Given the description of an element on the screen output the (x, y) to click on. 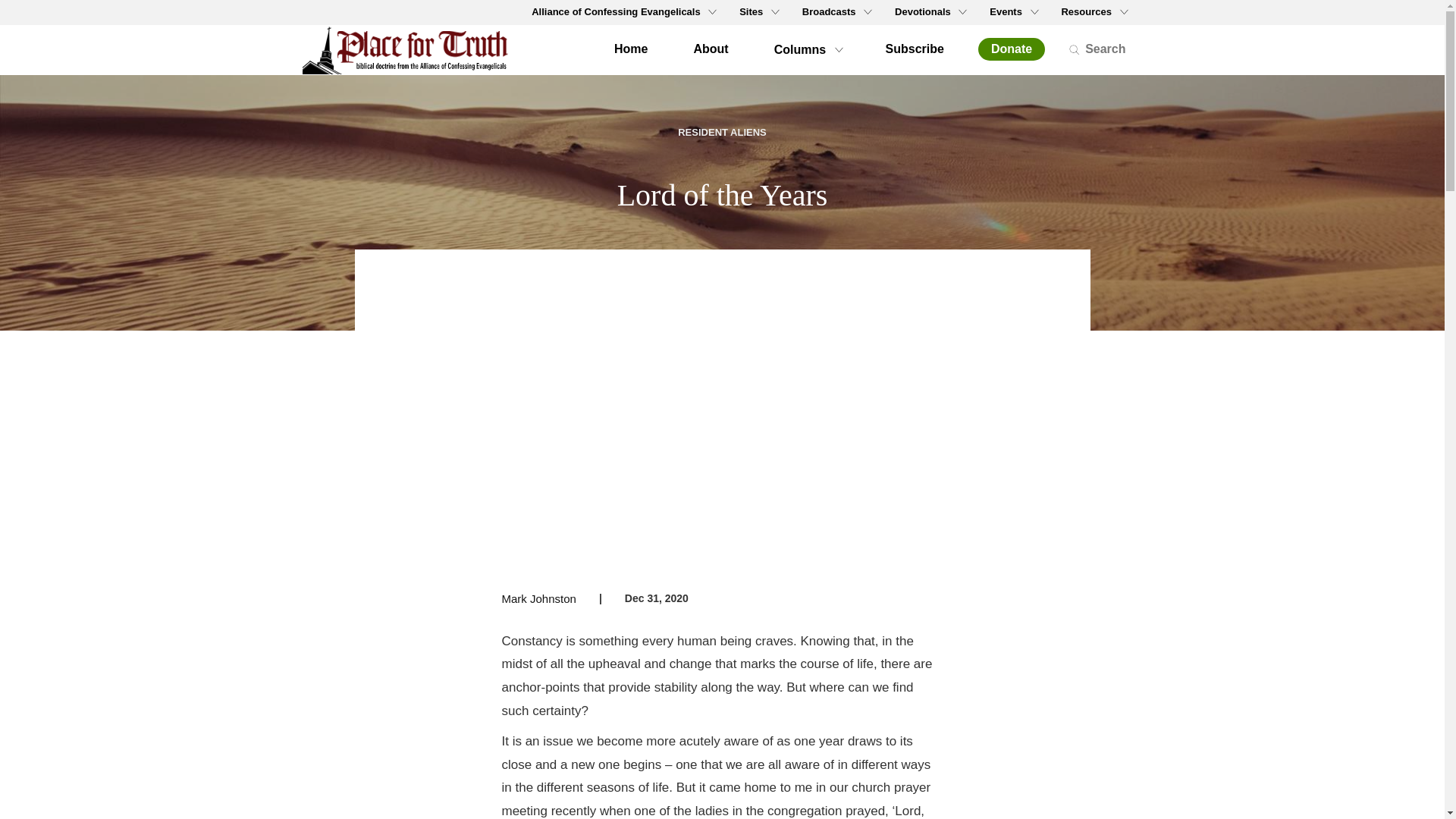
Devotionals (929, 12)
Events (1012, 12)
Sites (757, 12)
Home (411, 49)
Donate (1011, 48)
Broadcasts (835, 12)
Subscribe (915, 47)
Columns (806, 48)
Alliance of Confessing Evangelicals (622, 12)
